Given the description of an element on the screen output the (x, y) to click on. 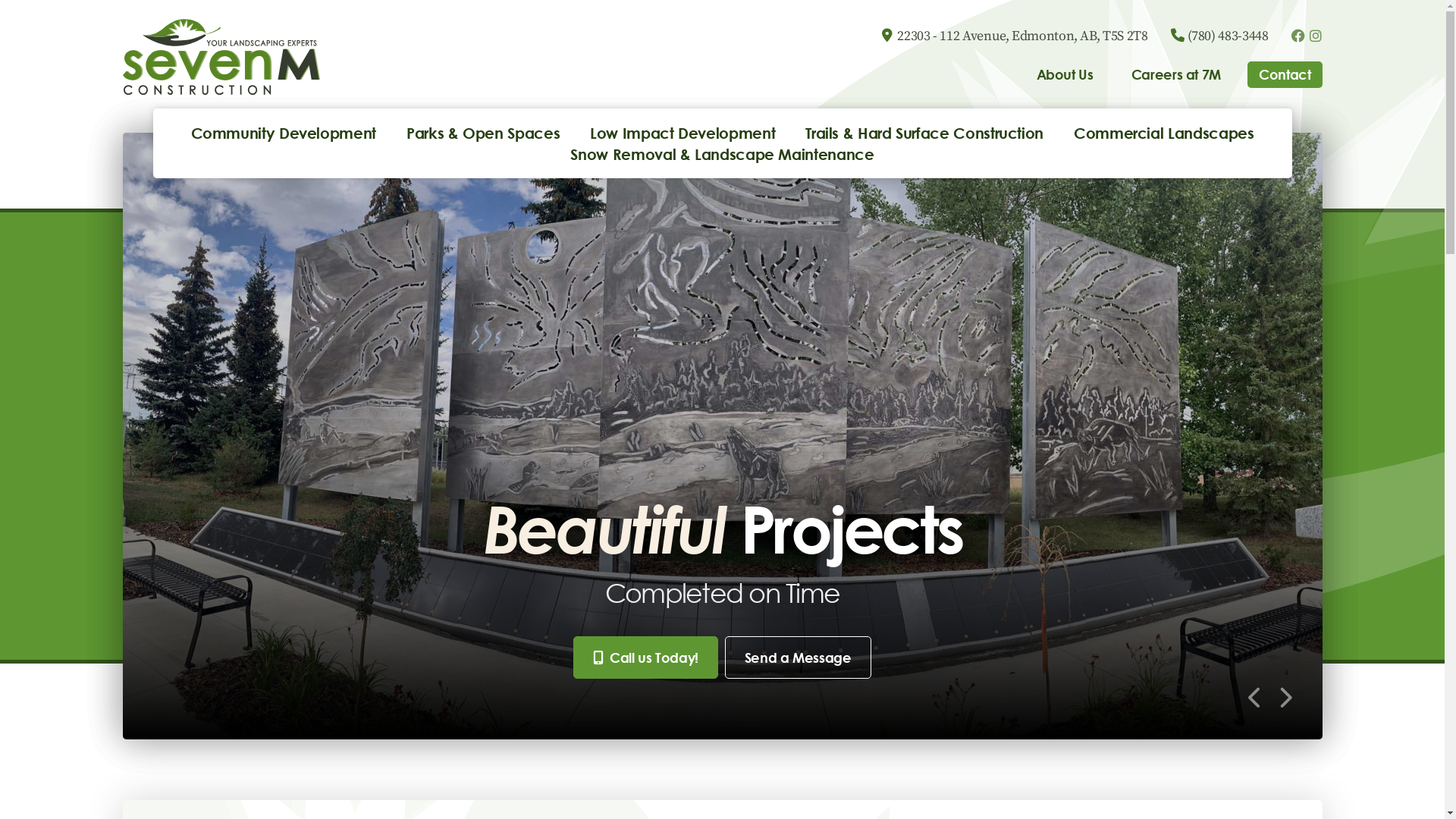
(780) 483-3448 Element type: text (1227, 35)
Community Development Element type: text (283, 132)
Low Impact Development Element type: text (682, 132)
Commercial Landscapes Element type: text (1163, 132)
22303 - 112 Avenue, Edmonton, AB, T5S 2T8 Element type: text (1022, 35)
Contact Element type: text (1284, 73)
Trails & Hard Surface Construction Element type: text (924, 132)
Parks & Open Spaces Element type: text (482, 132)
About Us Element type: text (1064, 73)
Seven M Element type: hover (221, 56)
Send a Message Element type: text (797, 657)
Careers at 7M Element type: text (1176, 73)
Snow Removal & Landscape Maintenance Element type: text (721, 153)
instagram Element type: hover (1315, 35)
Call us Today! Element type: text (645, 657)
facebook Element type: hover (1297, 35)
